Given the description of an element on the screen output the (x, y) to click on. 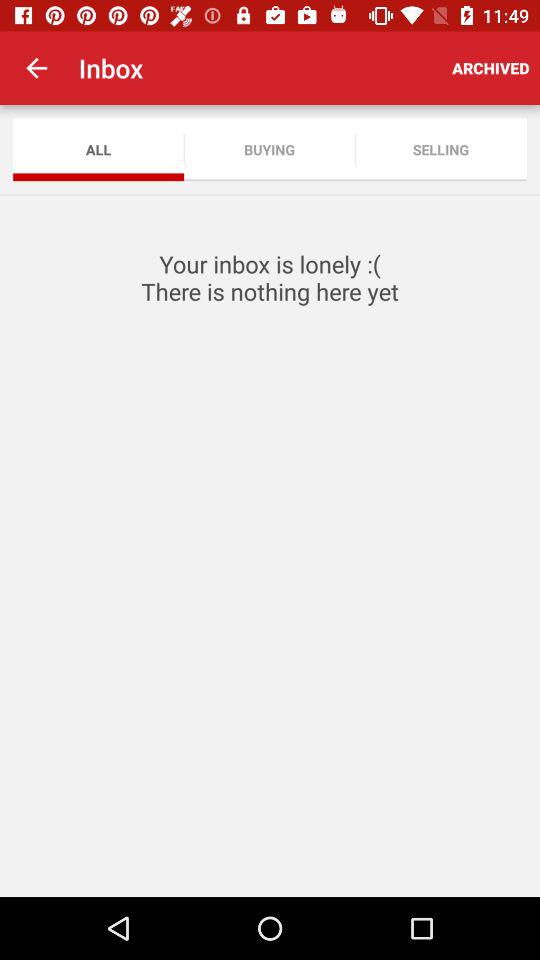
tap all icon (98, 149)
